Given the description of an element on the screen output the (x, y) to click on. 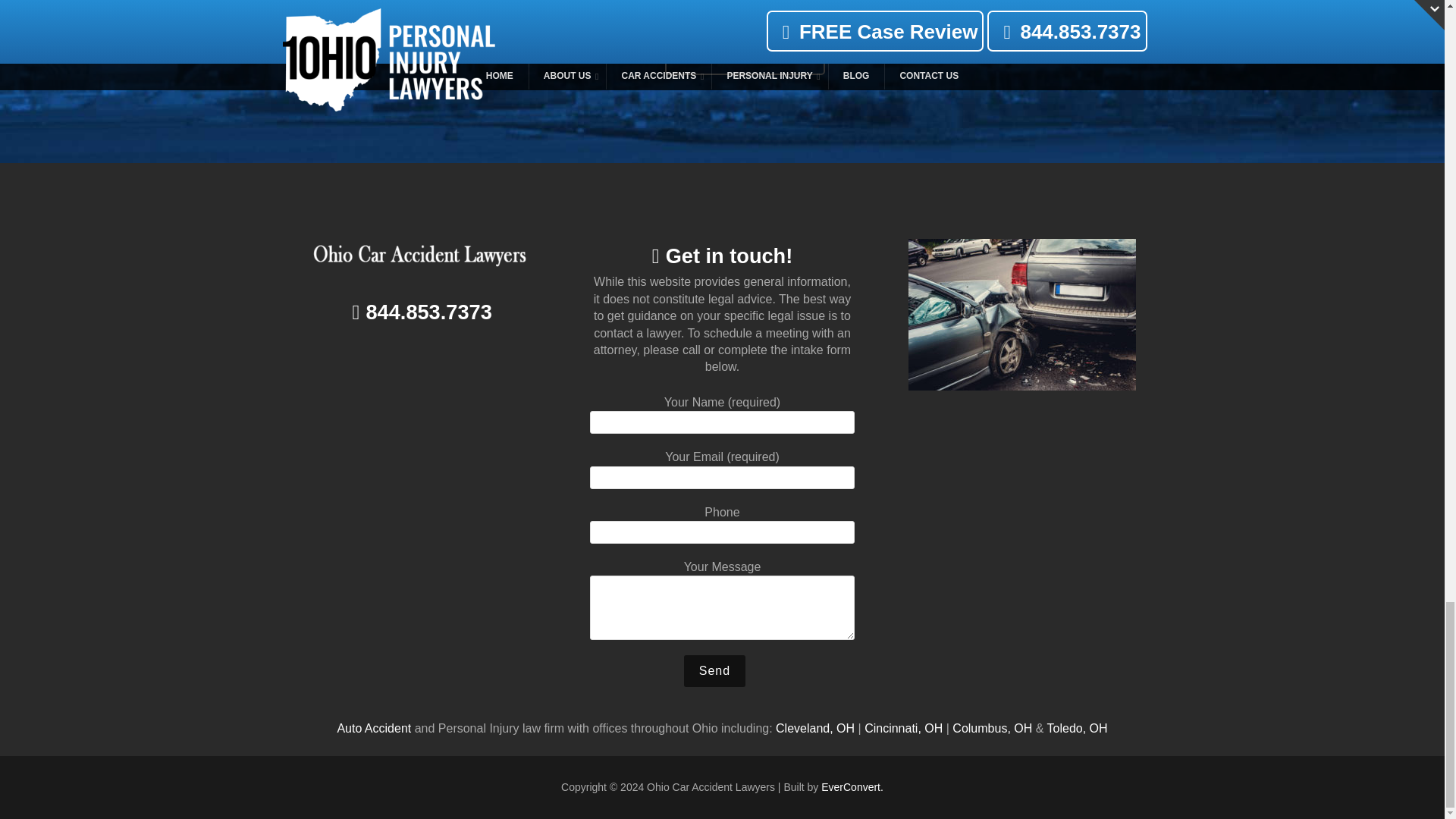
Send (714, 671)
